Given the description of an element on the screen output the (x, y) to click on. 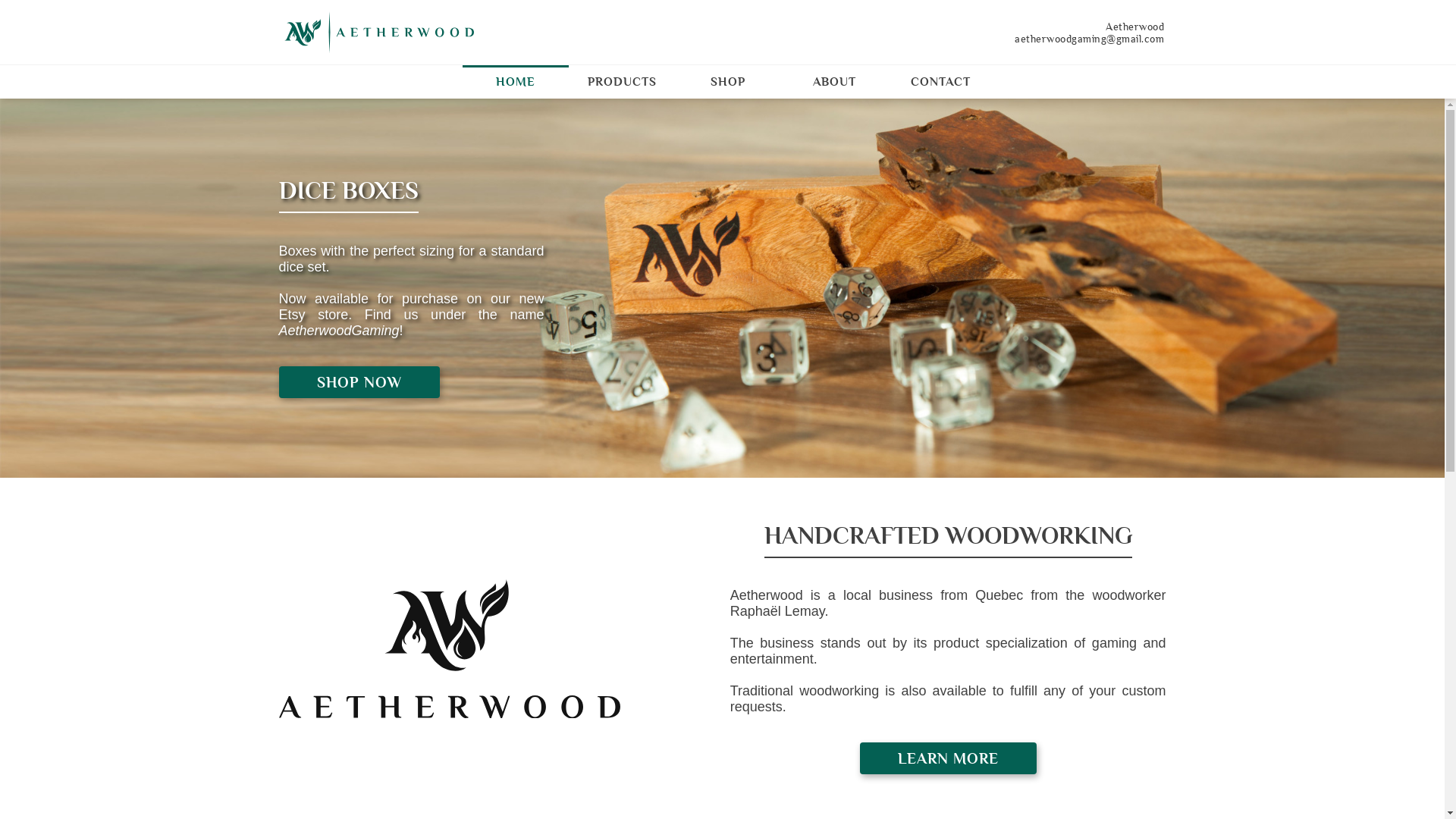
aetherwoodgaming@gmail.com Element type: text (1092, 37)
ABOUT Element type: text (834, 81)
image/svg+xml Element type: text (378, 32)
CONTACT Element type: text (940, 81)
Aetherwood Element type: text (1092, 25)
SHOP Element type: text (727, 81)
HOME Element type: text (515, 81)
SHOP NOW Element type: text (359, 382)
LEARN MORE Element type: text (947, 758)
